Given the description of an element on the screen output the (x, y) to click on. 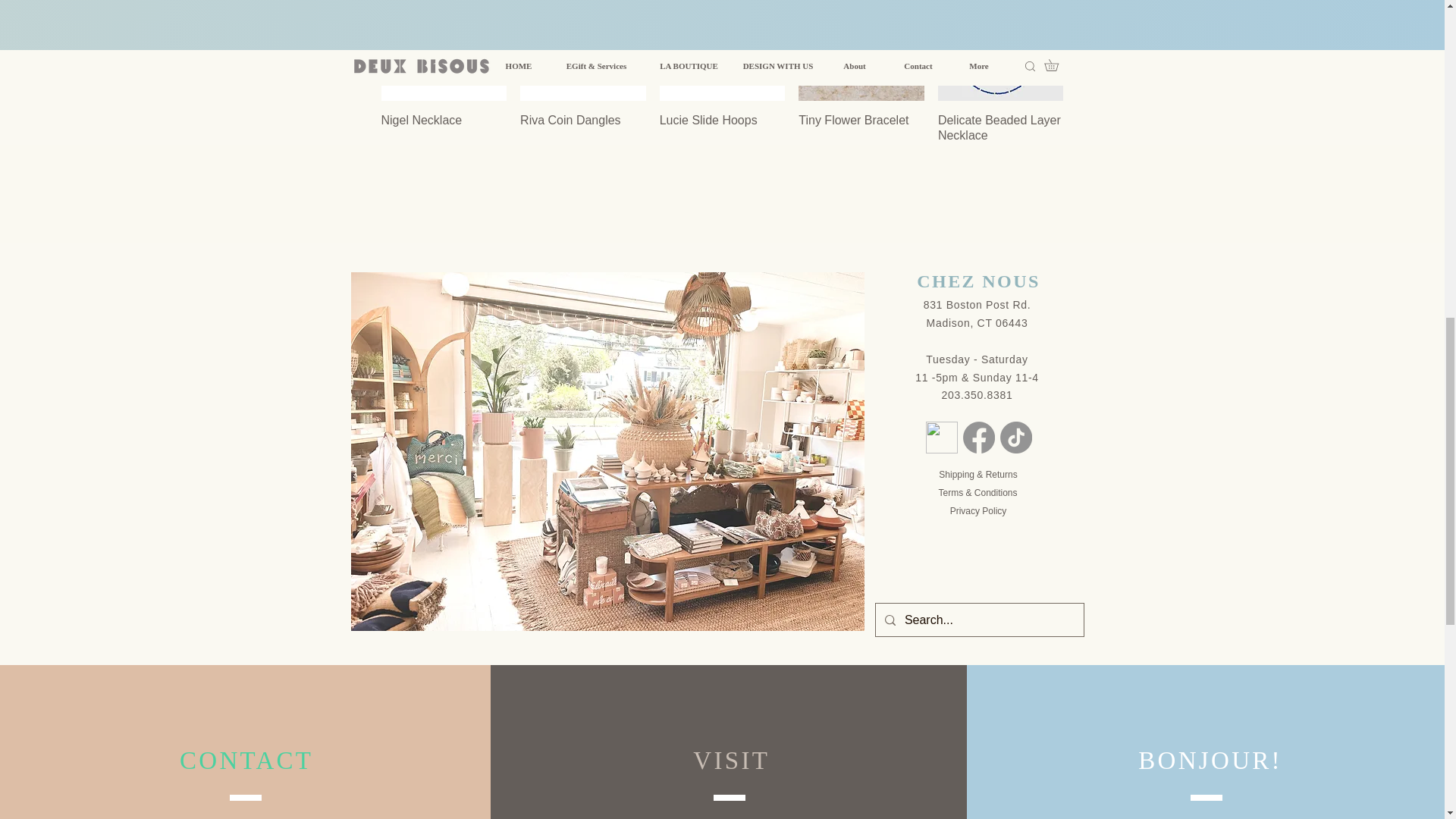
Nigel Necklace (443, 135)
Lucie Slide Hoops (722, 135)
Tiny Flower Bracelet (860, 135)
Riva Coin Dangles (582, 135)
